Given the description of an element on the screen output the (x, y) to click on. 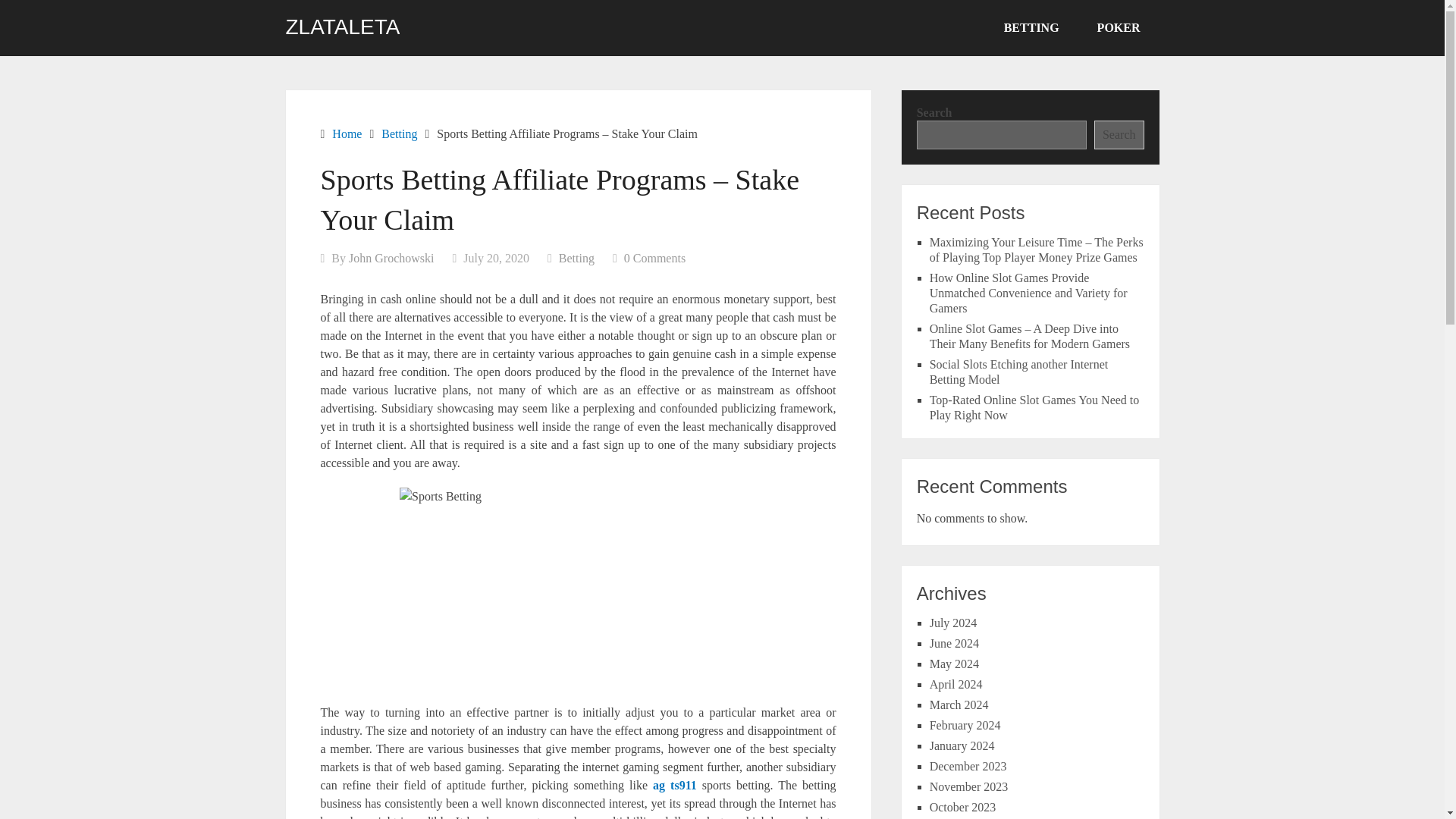
POKER (1118, 28)
Posts by John Grochowski (391, 257)
Betting (398, 133)
ZLATALETA (341, 26)
April 2024 (956, 684)
Top-Rated Online Slot Games You Need to Play Right Now (1035, 407)
ag ts911 (674, 784)
January 2024 (962, 745)
February 2024 (965, 725)
Betting (576, 257)
